Given the description of an element on the screen output the (x, y) to click on. 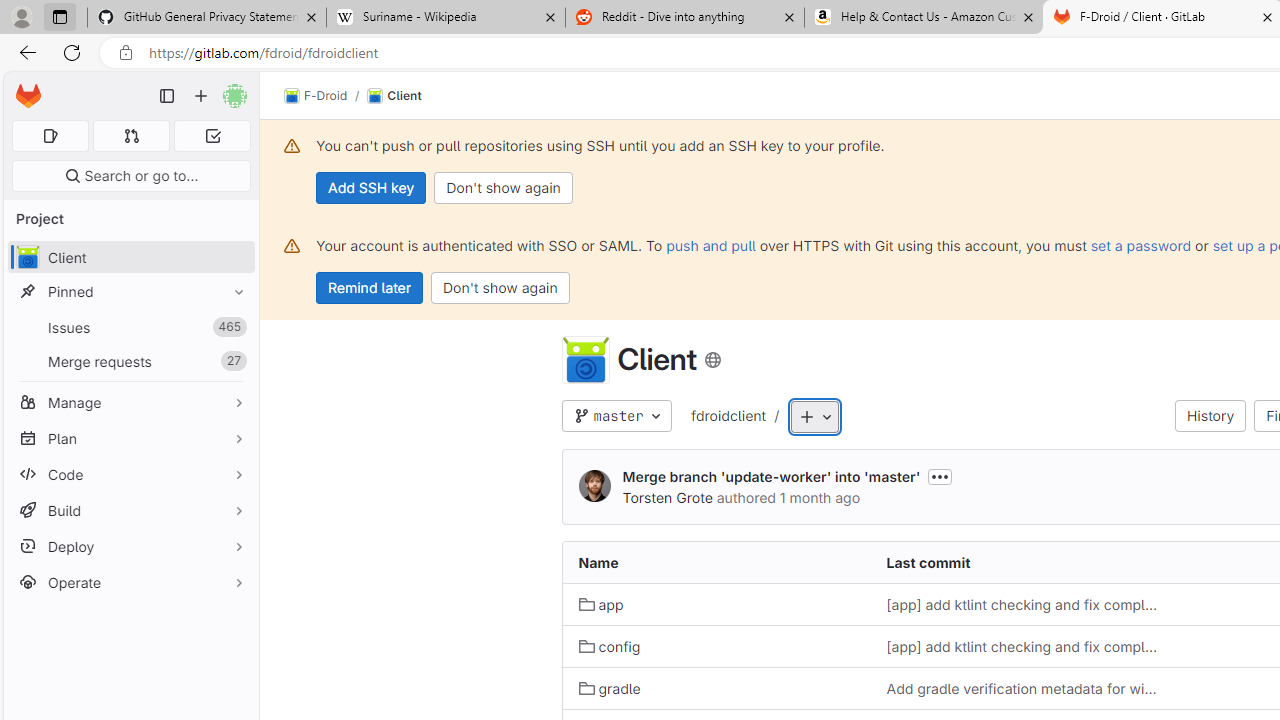
GitHub General Privacy Statement - GitHub Docs (207, 17)
Add gradle verification metadata for windows (1024, 688)
Build (130, 510)
Merge branch 'update-worker' into 'master' (771, 476)
Code (130, 474)
Torsten Grote's avatar (594, 486)
set a password (1140, 245)
master (616, 416)
app (715, 604)
Plan (130, 438)
gradle (715, 687)
Build (130, 510)
Merge requests27 (130, 361)
